Given the description of an element on the screen output the (x, y) to click on. 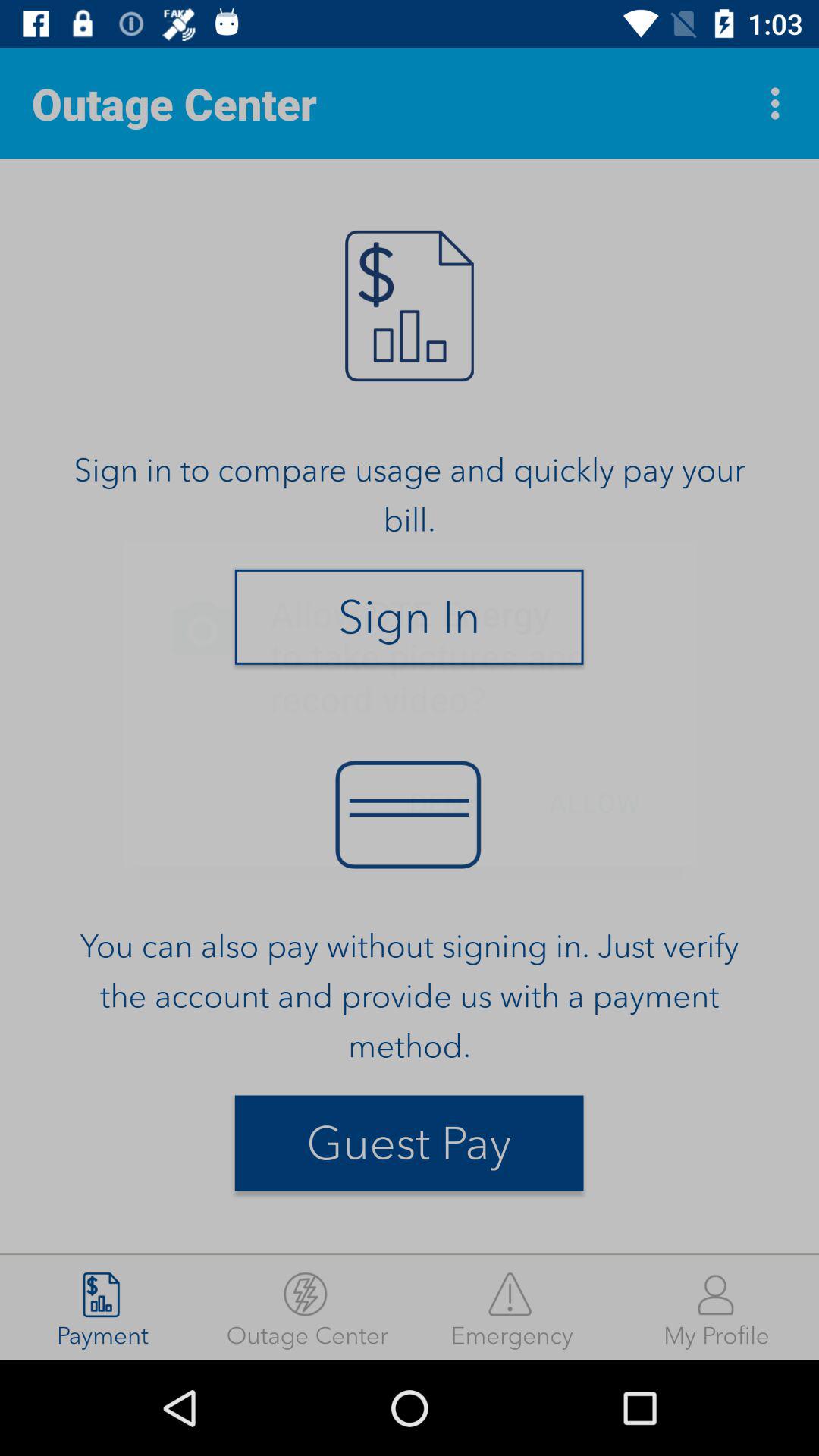
open the icon next to emergency item (716, 1307)
